Given the description of an element on the screen output the (x, y) to click on. 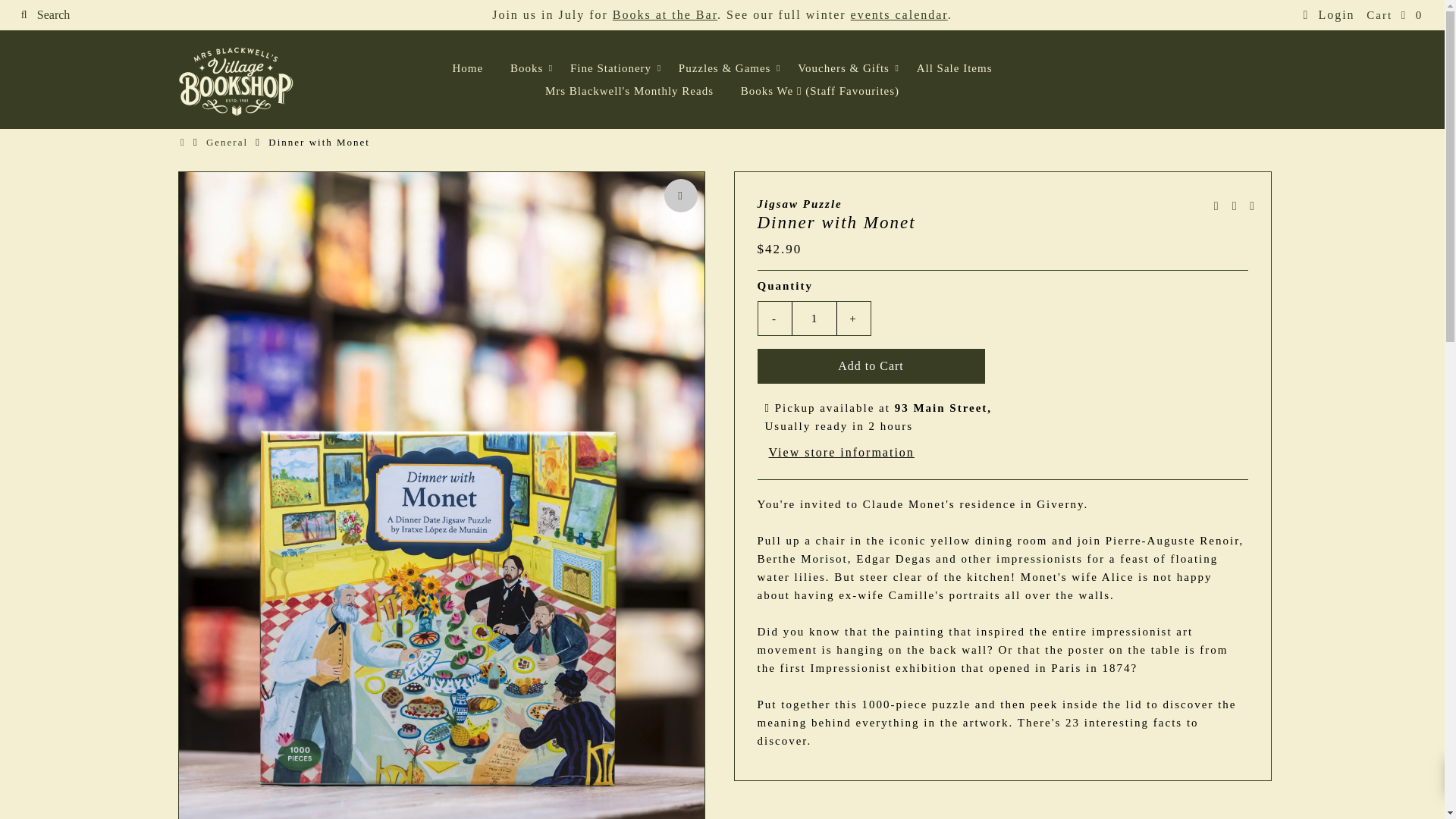
General (228, 142)
1 (814, 318)
events calendar (898, 14)
Books (526, 67)
Home (468, 67)
Books at the Bar (664, 14)
  Login (1329, 14)
Cart    0 (1394, 15)
Add to Cart (870, 366)
